Given the description of an element on the screen output the (x, y) to click on. 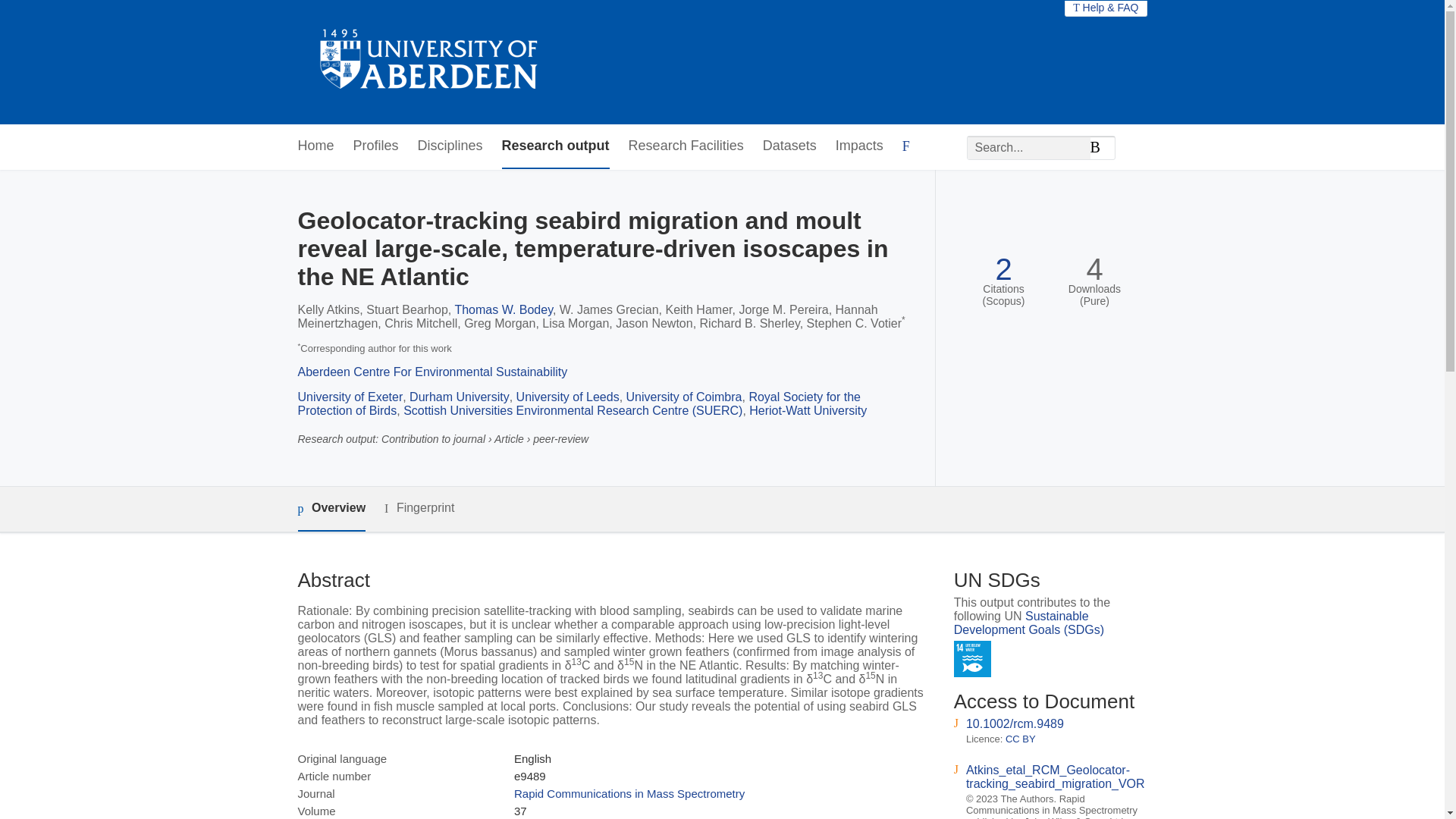
Impacts (859, 146)
Research output (556, 146)
Research Facilities (686, 146)
Datasets (789, 146)
Heriot-Watt University (807, 410)
University of Exeter (350, 396)
Thomas W. Bodey (503, 309)
University of Coimbra (684, 396)
The University of Aberdeen Research Portal Home (429, 61)
Disciplines (450, 146)
Rapid Communications in Mass Spectrometry (628, 793)
SDG 14 - Life Below Water (972, 659)
Fingerprint (419, 507)
Durham University (459, 396)
